Given the description of an element on the screen output the (x, y) to click on. 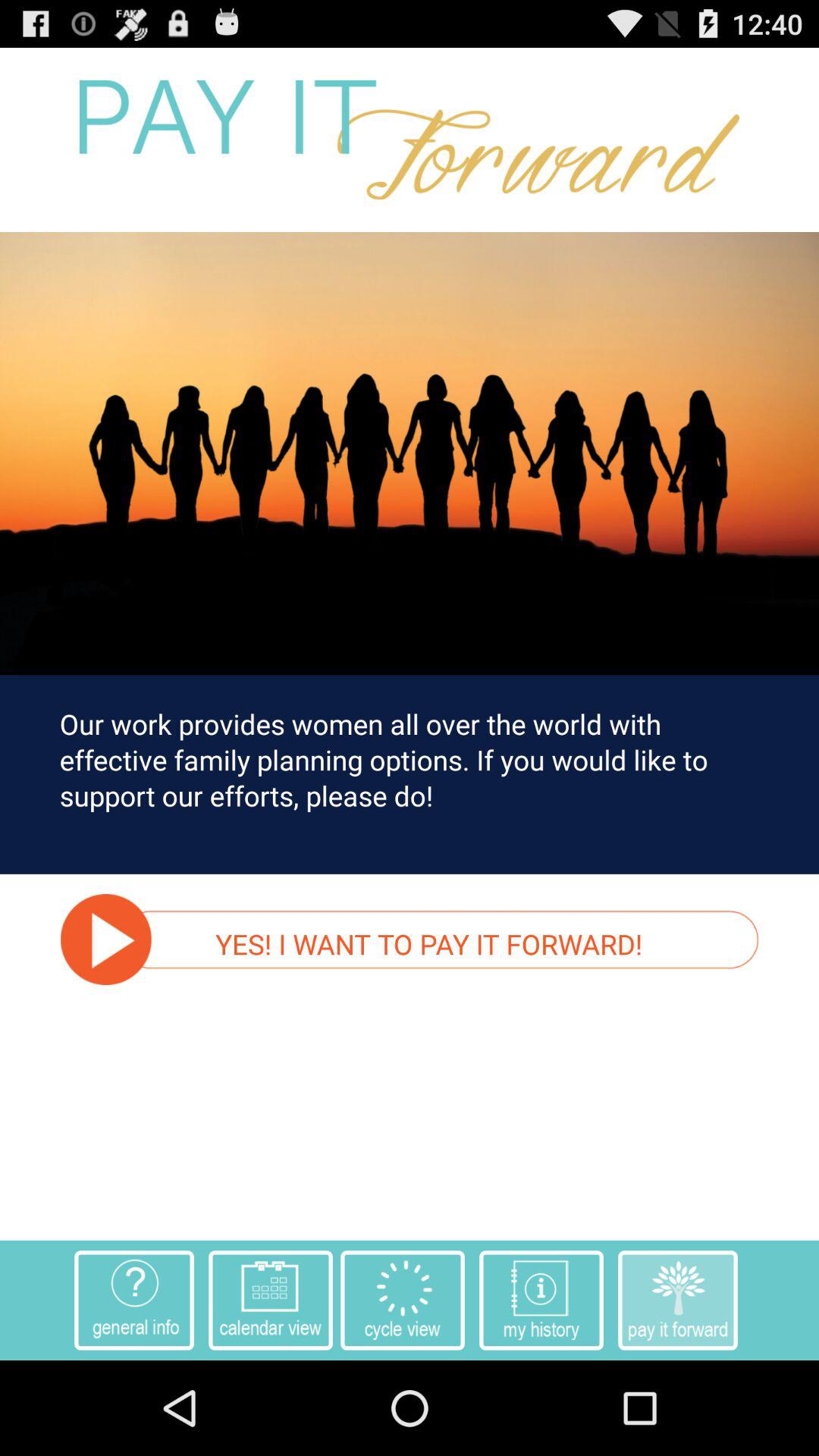
click on the second button which is at the bottom of the page (270, 1300)
click bottom left side botton (134, 1300)
select the option which is above home button (402, 1300)
